Given the description of an element on the screen output the (x, y) to click on. 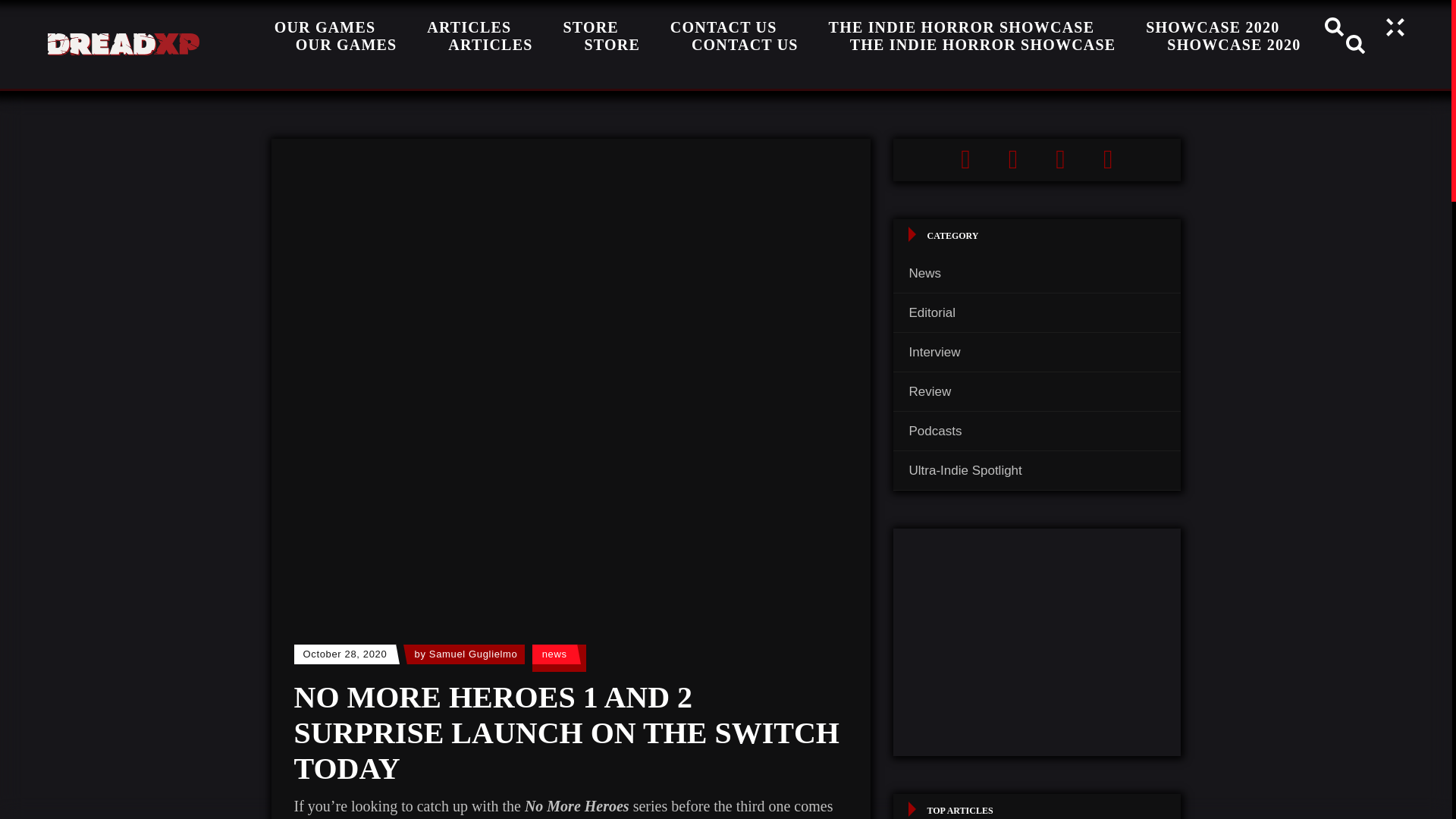
STORE (611, 44)
THE INDIE HORROR SHOWCASE (982, 44)
OUR GAMES (346, 44)
ARTICLES (489, 44)
OUR GAMES (324, 29)
Shift-click to edit this widget. (1036, 159)
SHOWCASE 2020 (1233, 44)
CONTACT US (744, 44)
